Given the description of an element on the screen output the (x, y) to click on. 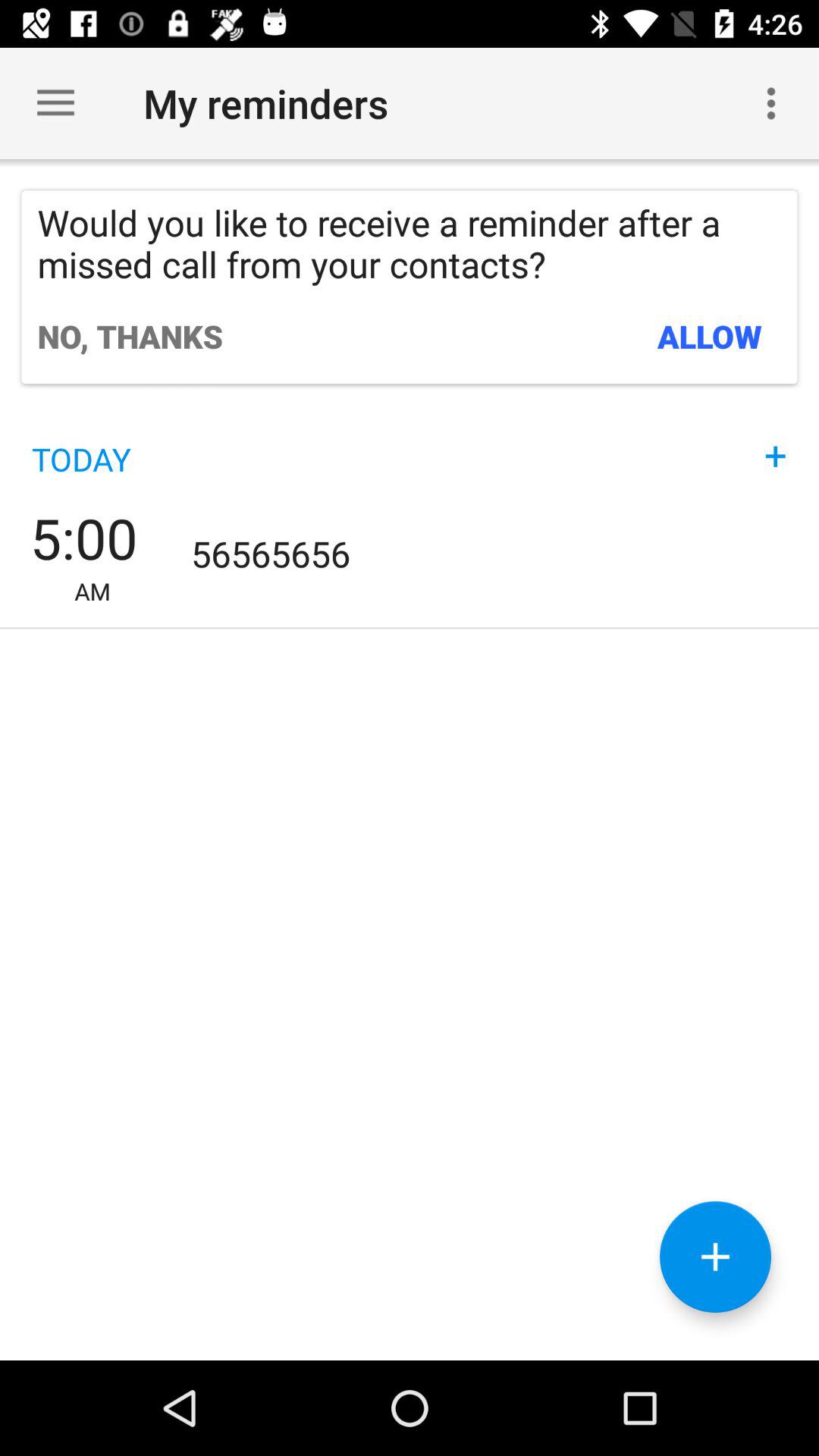
add a reminder (715, 1256)
